Given the description of an element on the screen output the (x, y) to click on. 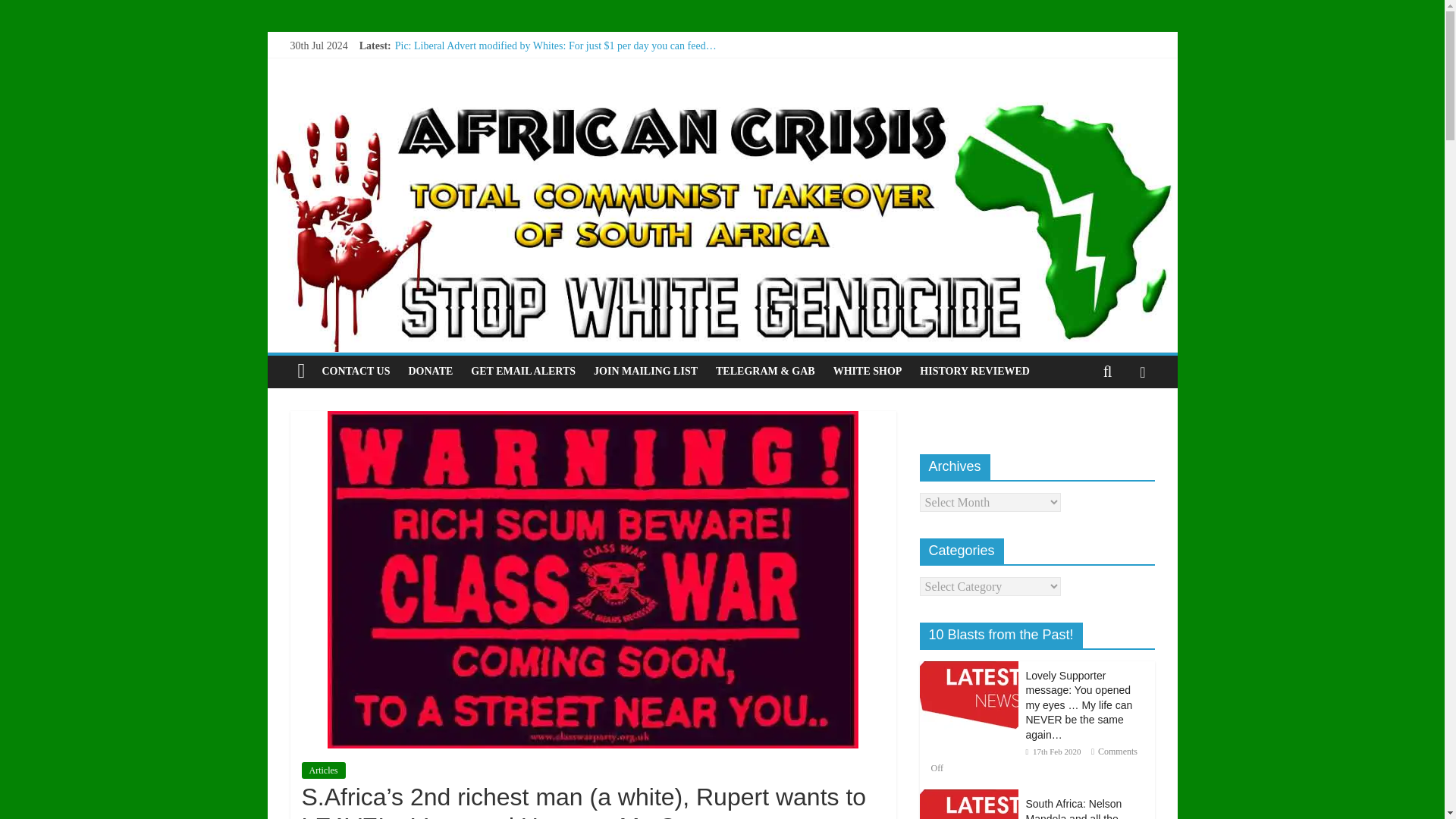
Articles (323, 770)
HISTORY REVIEWED (975, 371)
DONATE (429, 371)
JOIN MAILING LIST (645, 371)
CONTACT US (355, 371)
GET EMAIL ALERTS (523, 371)
WHITE SHOP (867, 371)
